Given the description of an element on the screen output the (x, y) to click on. 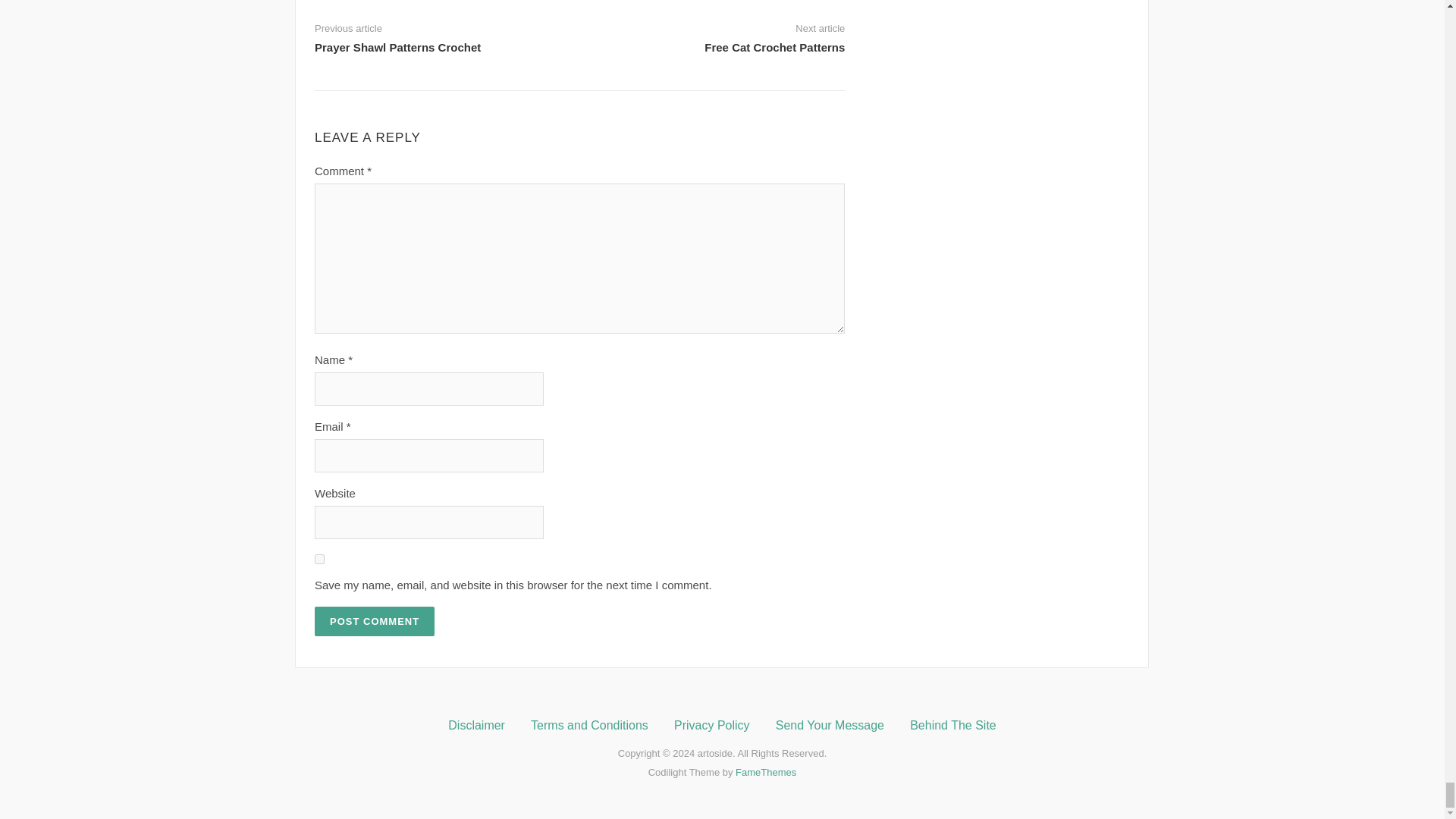
Free Cat Crochet Patterns (774, 47)
Post Comment (373, 621)
yes (319, 559)
Prayer Shawl Patterns Crochet (397, 47)
Post Comment (373, 621)
